Given the description of an element on the screen output the (x, y) to click on. 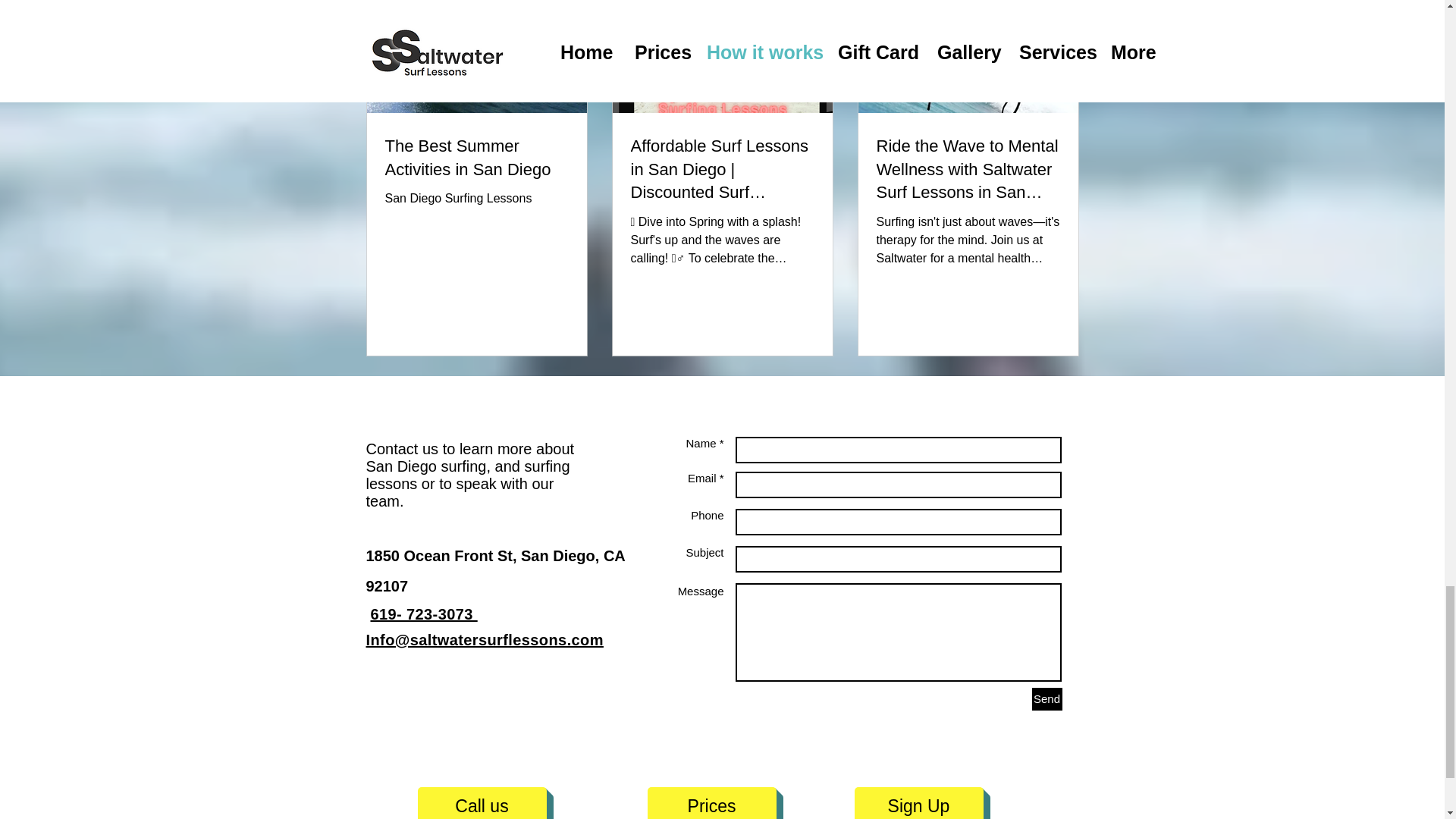
Prices (711, 803)
The Best Summer Activities in San Diego (477, 158)
Send (1045, 698)
Call us (481, 803)
1850 Ocean Front St, San Diego, CA 92107 (494, 570)
619- 723-3073  (423, 614)
Sign Up (917, 803)
